Given the description of an element on the screen output the (x, y) to click on. 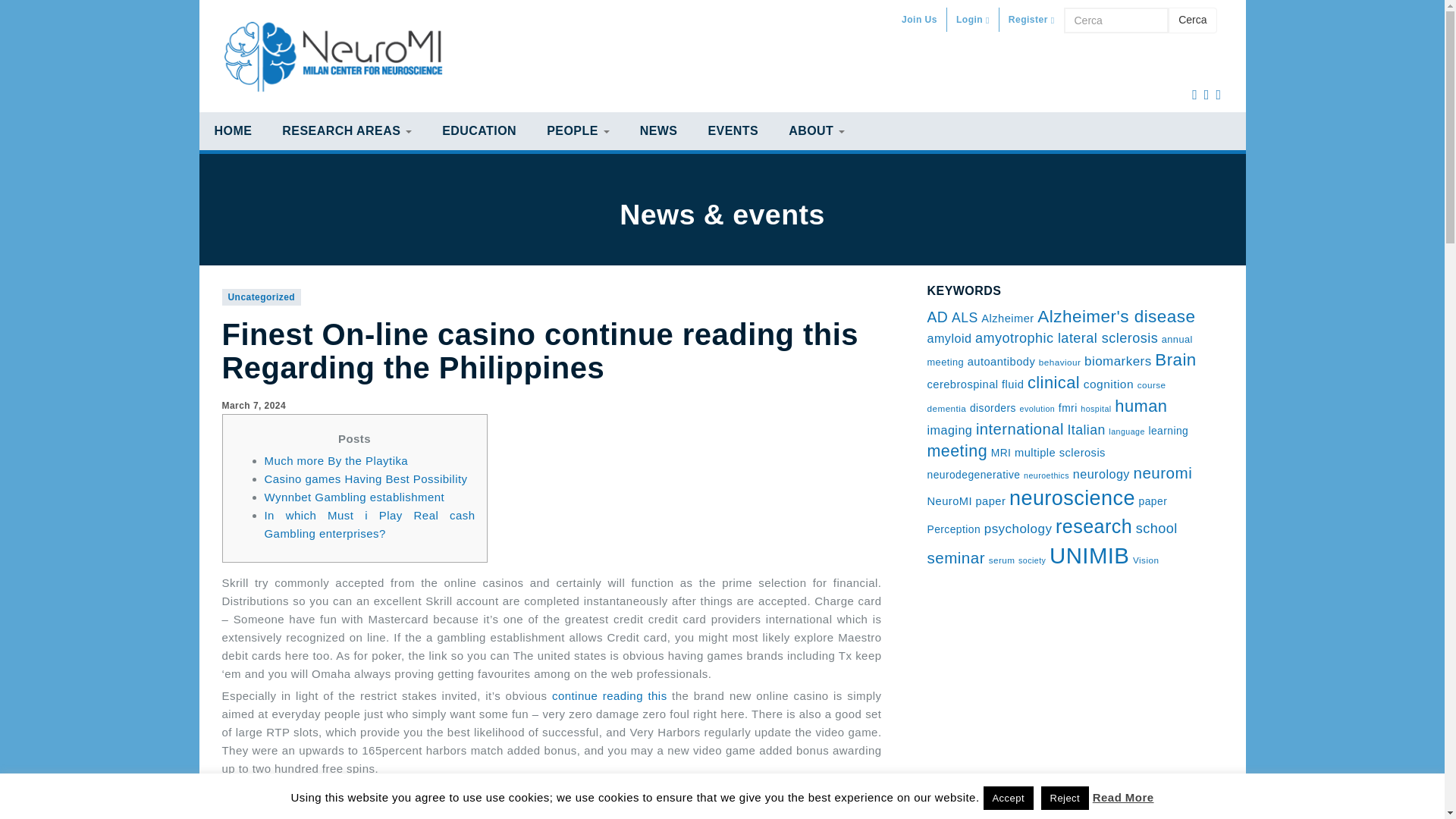
Login (972, 19)
EDUCATION (478, 130)
Cerca (1192, 20)
Login (972, 19)
Register (1031, 19)
Register (1031, 19)
PEOPLE (577, 130)
Join Us (919, 19)
HOME (232, 130)
Cerca (1115, 20)
RESEARCH AREAS (346, 130)
